Given the description of an element on the screen output the (x, y) to click on. 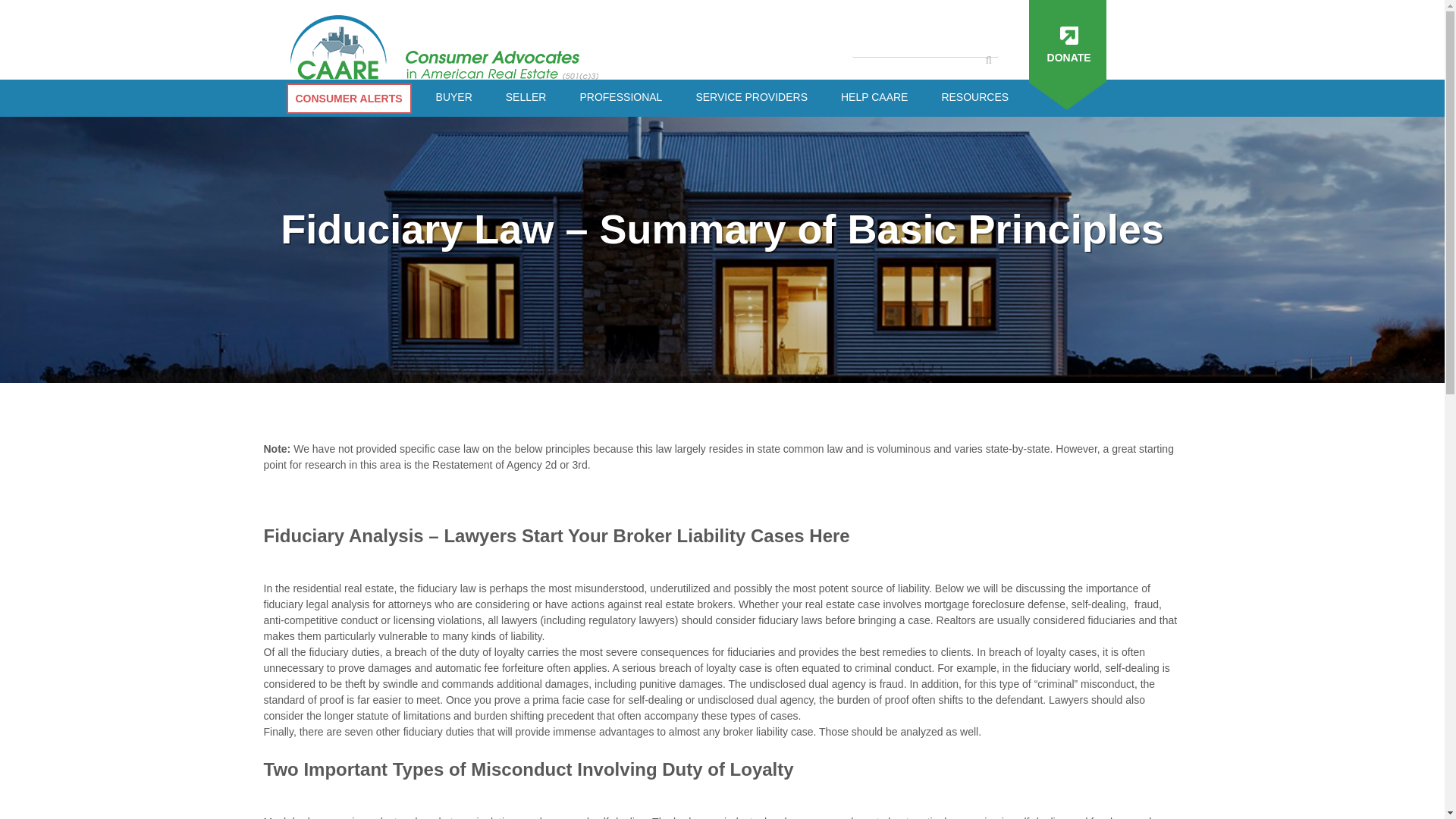
DONATE (1067, 41)
SERVICE PROVIDERS (751, 96)
PROFESSIONAL (620, 96)
SELLER (526, 96)
CONSUMER ALERTS (349, 98)
HELP CAARE (874, 96)
BUYER (454, 96)
RESOURCES (974, 96)
